Given the description of an element on the screen output the (x, y) to click on. 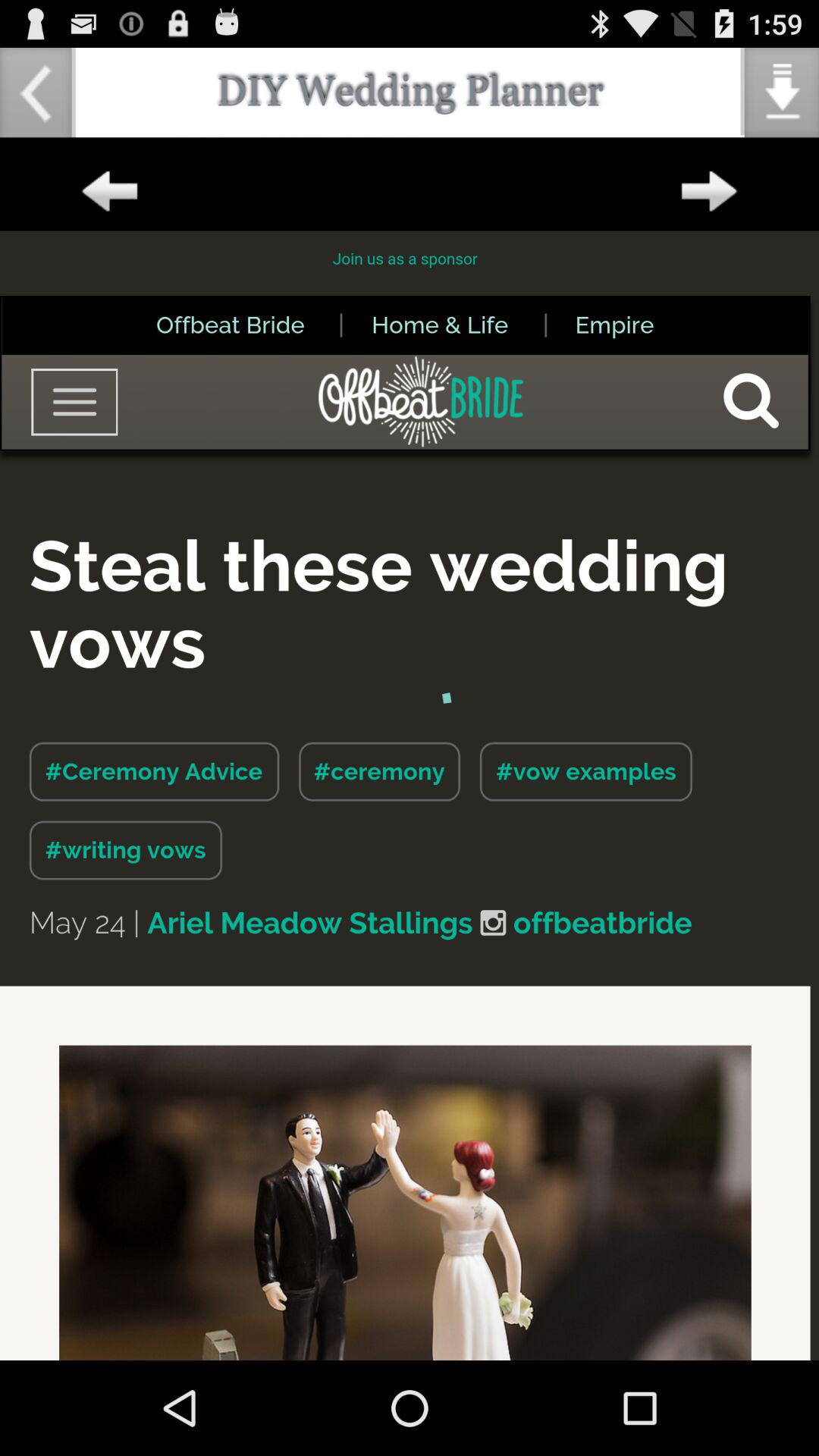
go to previous (109, 192)
